Given the description of an element on the screen output the (x, y) to click on. 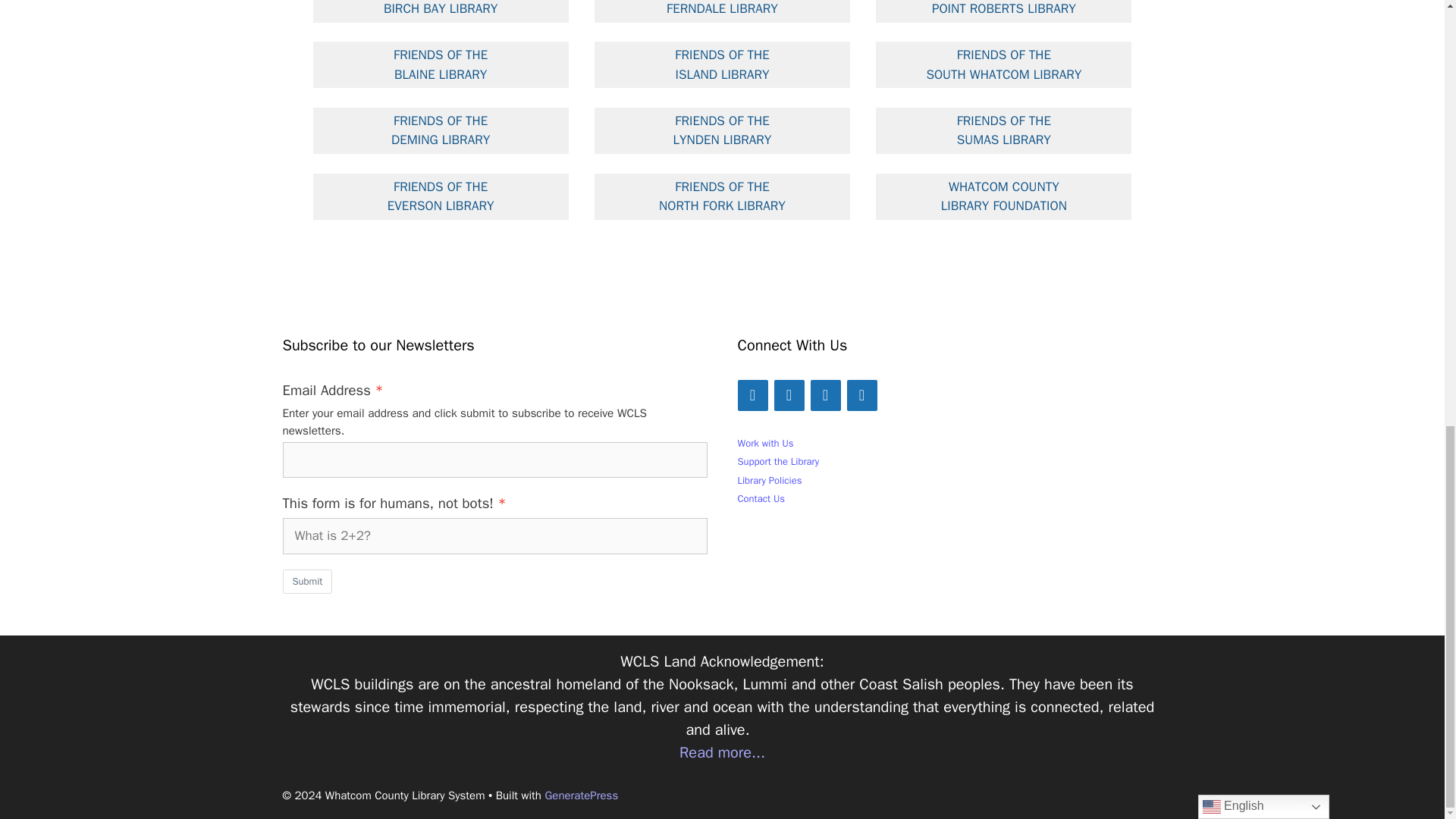
YouTube (824, 395)
Instagram (788, 395)
RSS (860, 395)
Facebook (751, 395)
